Given the description of an element on the screen output the (x, y) to click on. 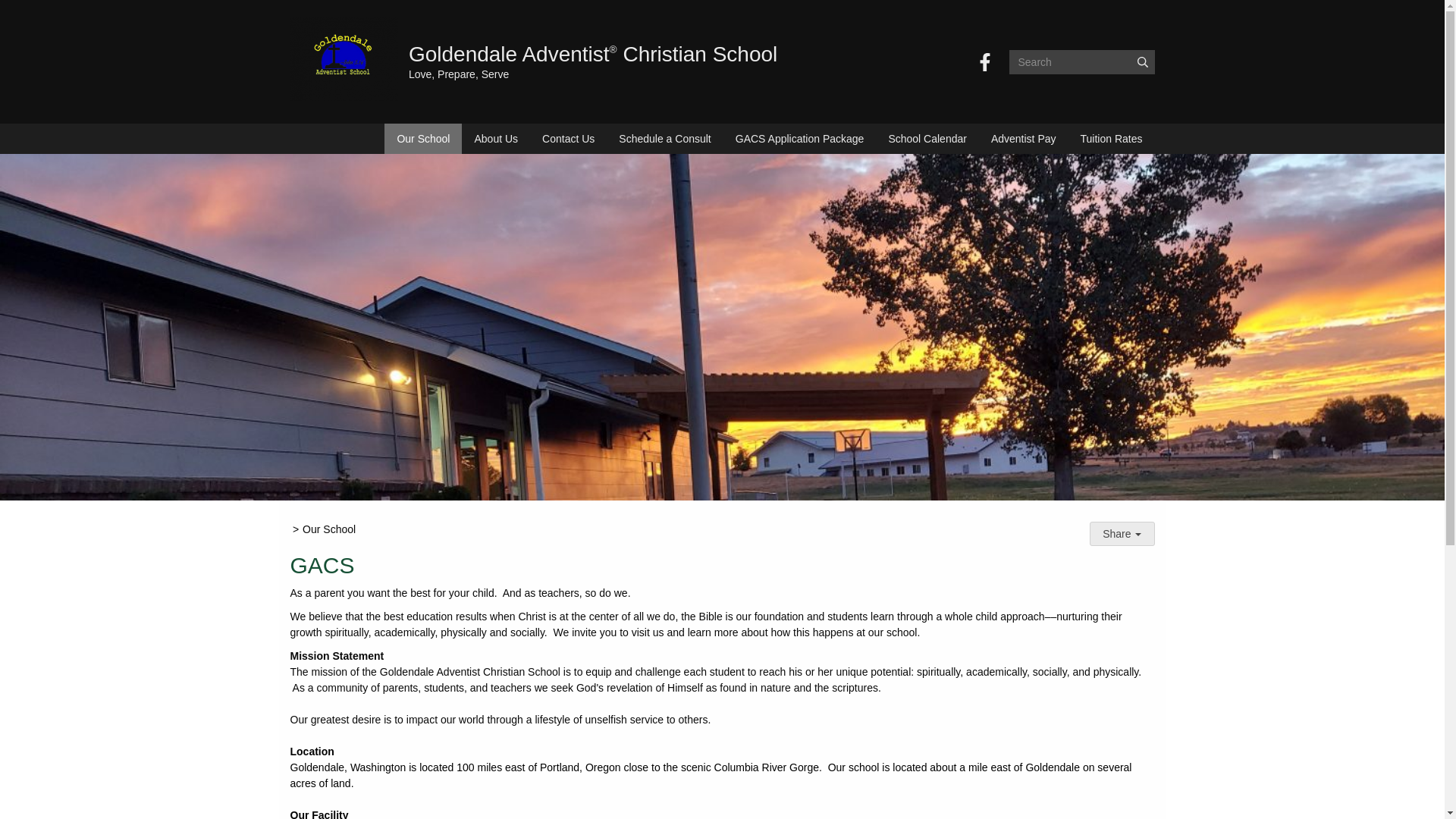
School Calendar (927, 138)
Tuition Rates (1111, 138)
Share (1121, 533)
Contact Us (568, 138)
Schedule a Consult (664, 138)
GACS Application Package (799, 138)
About Us (495, 138)
Adventist Pay (1023, 138)
Our School (422, 138)
